Given the description of an element on the screen output the (x, y) to click on. 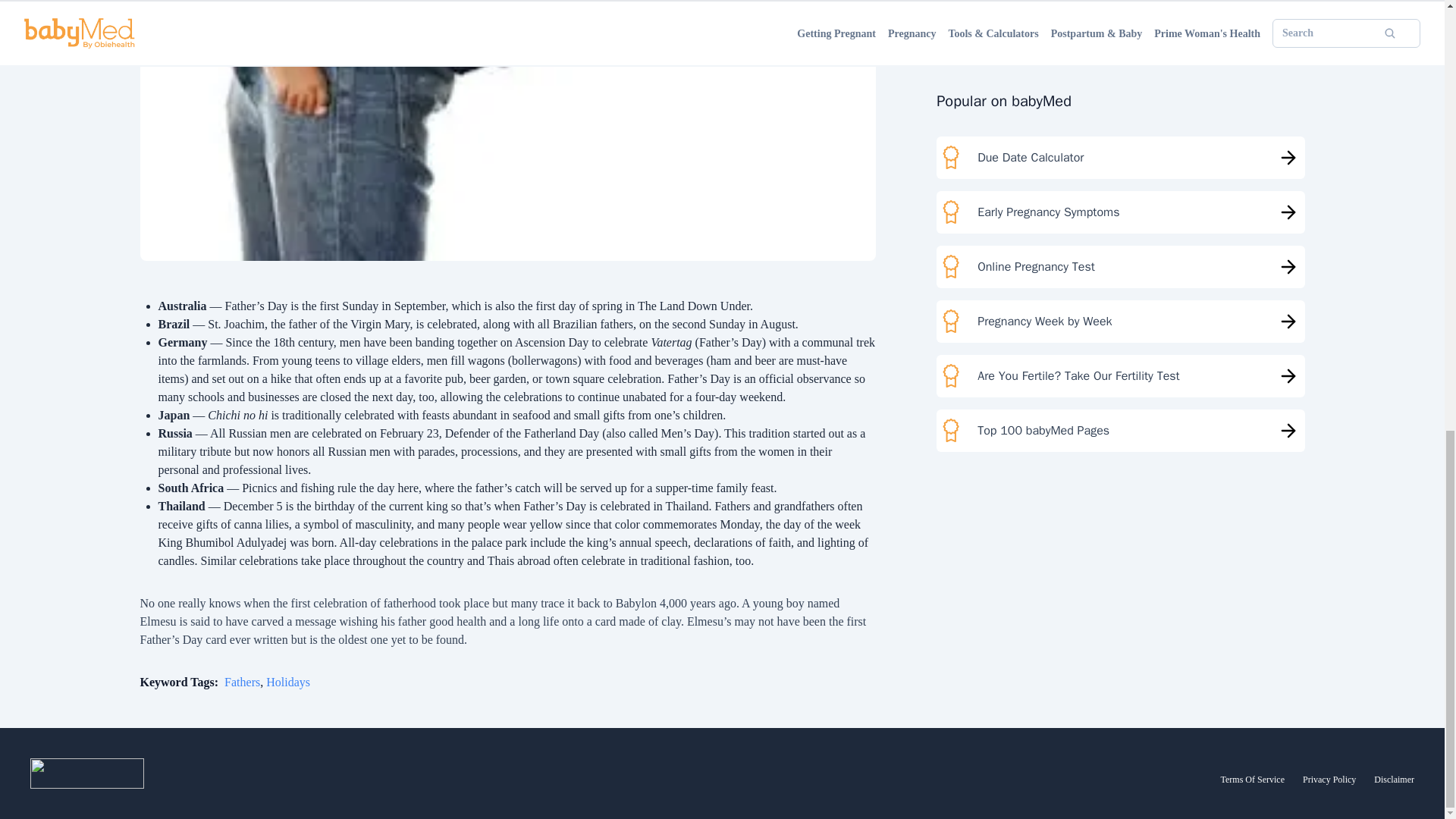
Terms Of Service (1252, 778)
Holidays (288, 681)
Keyword Tags:Fathers (199, 681)
Disclaimer (1393, 778)
Privacy Policy (1329, 778)
